Given the description of an element on the screen output the (x, y) to click on. 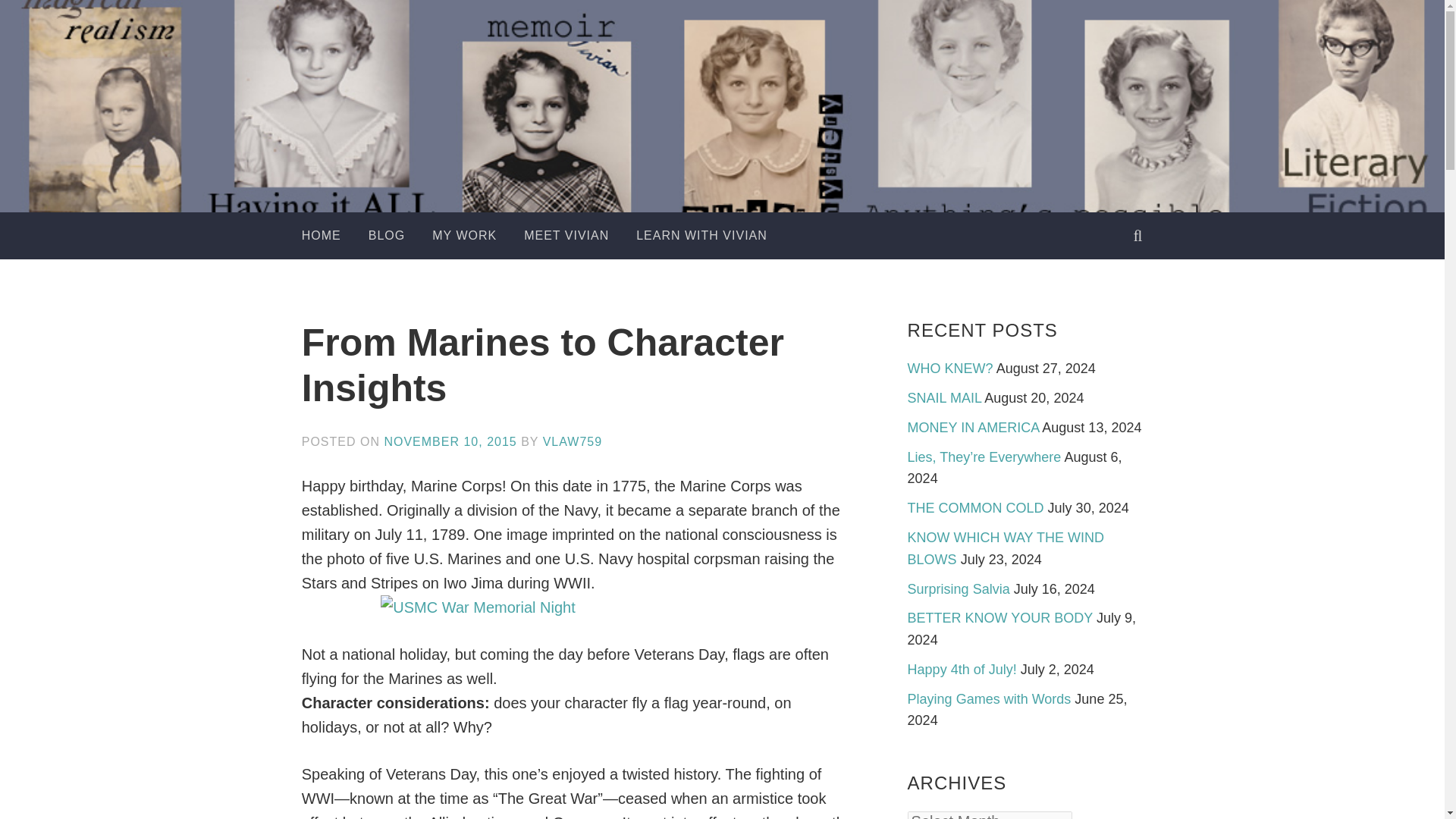
VLAW759 (572, 440)
Vivian Lawry (783, 159)
MEET VIVIAN (566, 235)
MY WORK (464, 235)
NOVEMBER 10, 2015 (450, 440)
LEARN WITH VIVIAN (701, 235)
